Given the description of an element on the screen output the (x, y) to click on. 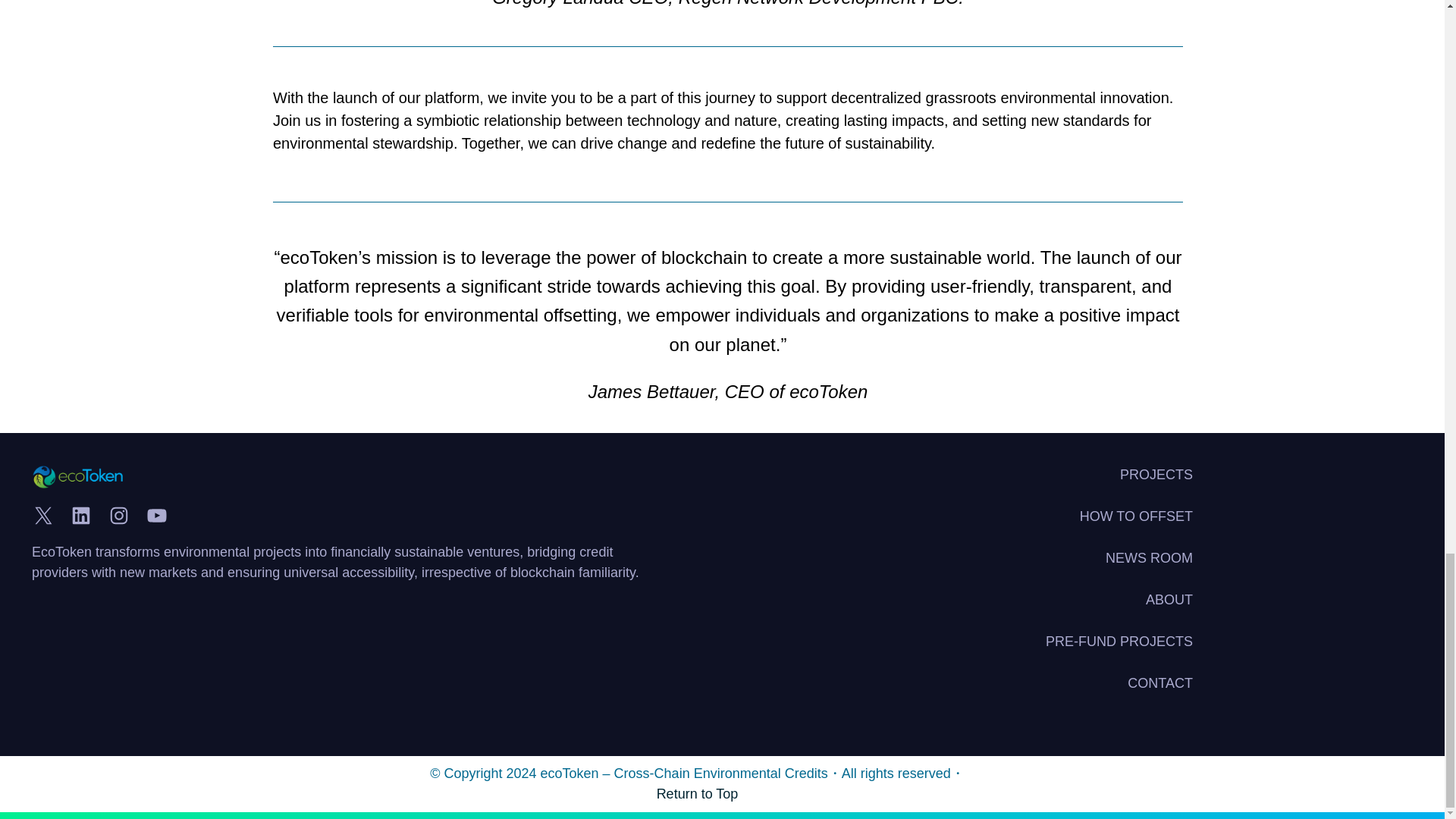
NEWS ROOM (1148, 557)
CONTACT (1159, 683)
ABOUT (1168, 599)
HOW TO OFFSET (1136, 516)
PRE-FUND PROJECTS (1118, 641)
Return to Top (697, 793)
PROJECTS (1155, 475)
